Given the description of an element on the screen output the (x, y) to click on. 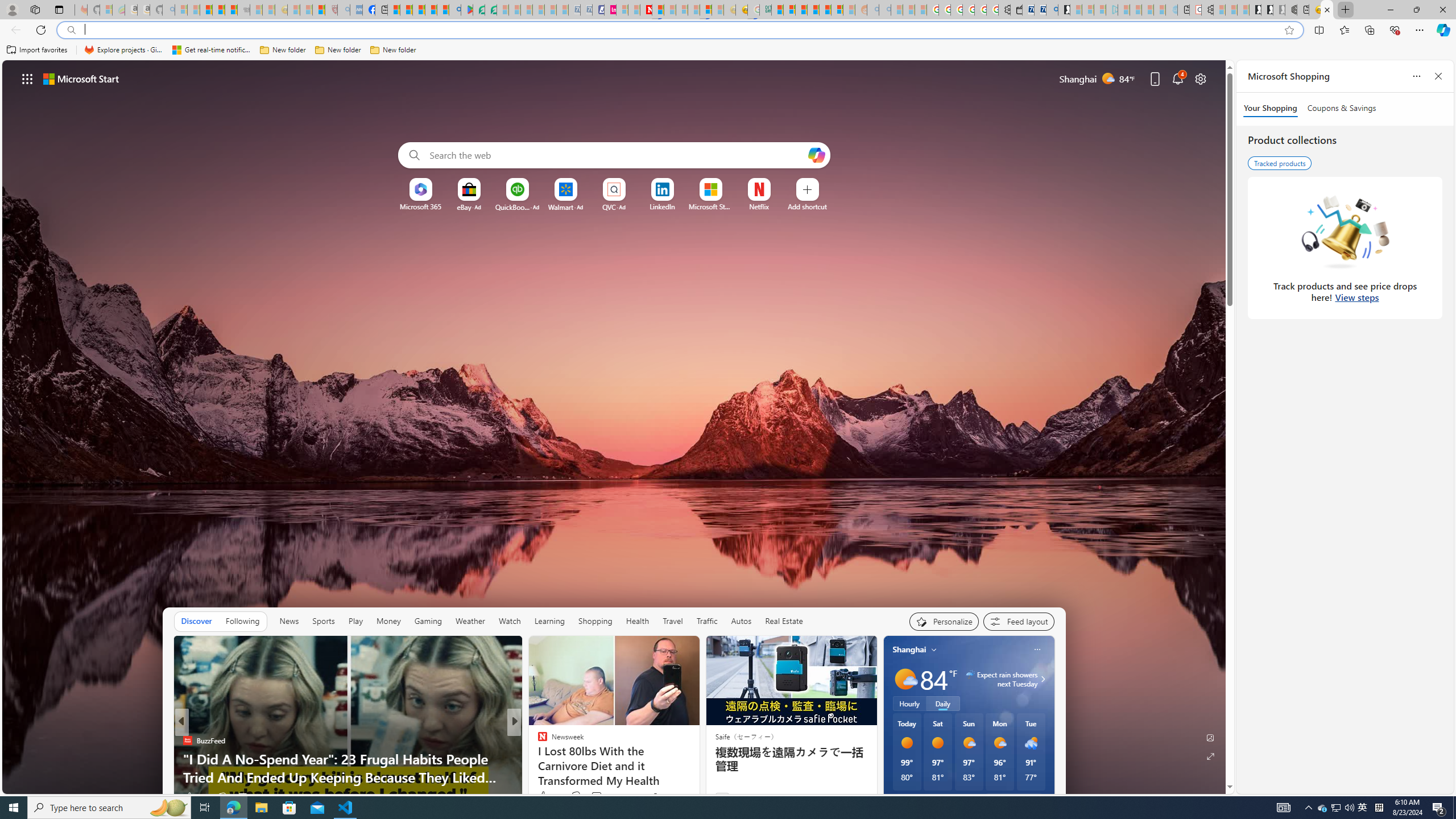
Expect rain showers next Tuesday (1040, 678)
Local - MSN (318, 9)
Expand background (1210, 756)
View comments 11 Comment (597, 796)
82 Like (192, 796)
